Given the description of an element on the screen output the (x, y) to click on. 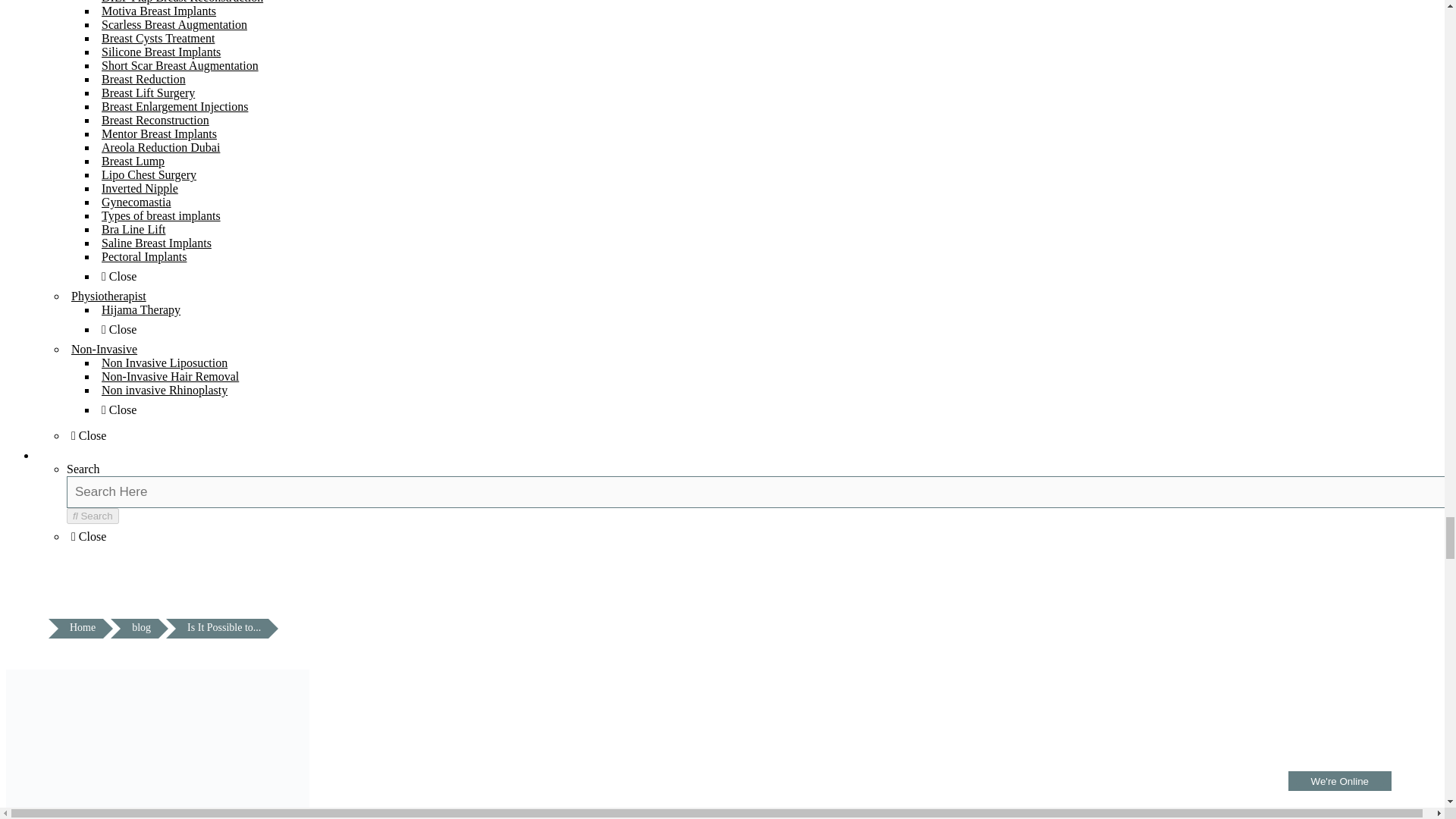
blog (140, 628)
Home (82, 628)
Is It Possible to Regrow Hair, According to an Expert? (223, 628)
